Given the description of an element on the screen output the (x, y) to click on. 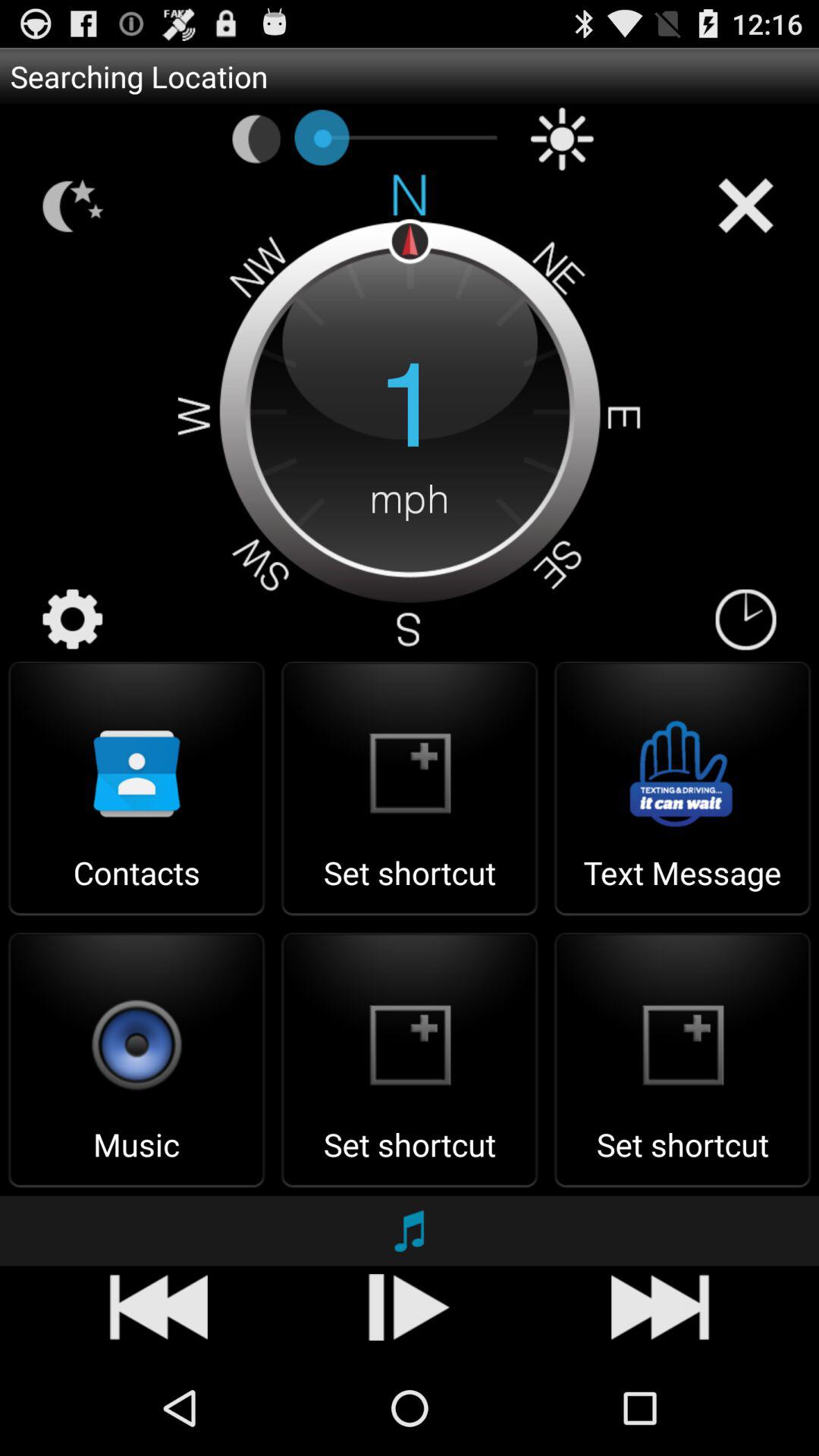
choose icon to the right of the 1 item (745, 619)
